Given the description of an element on the screen output the (x, y) to click on. 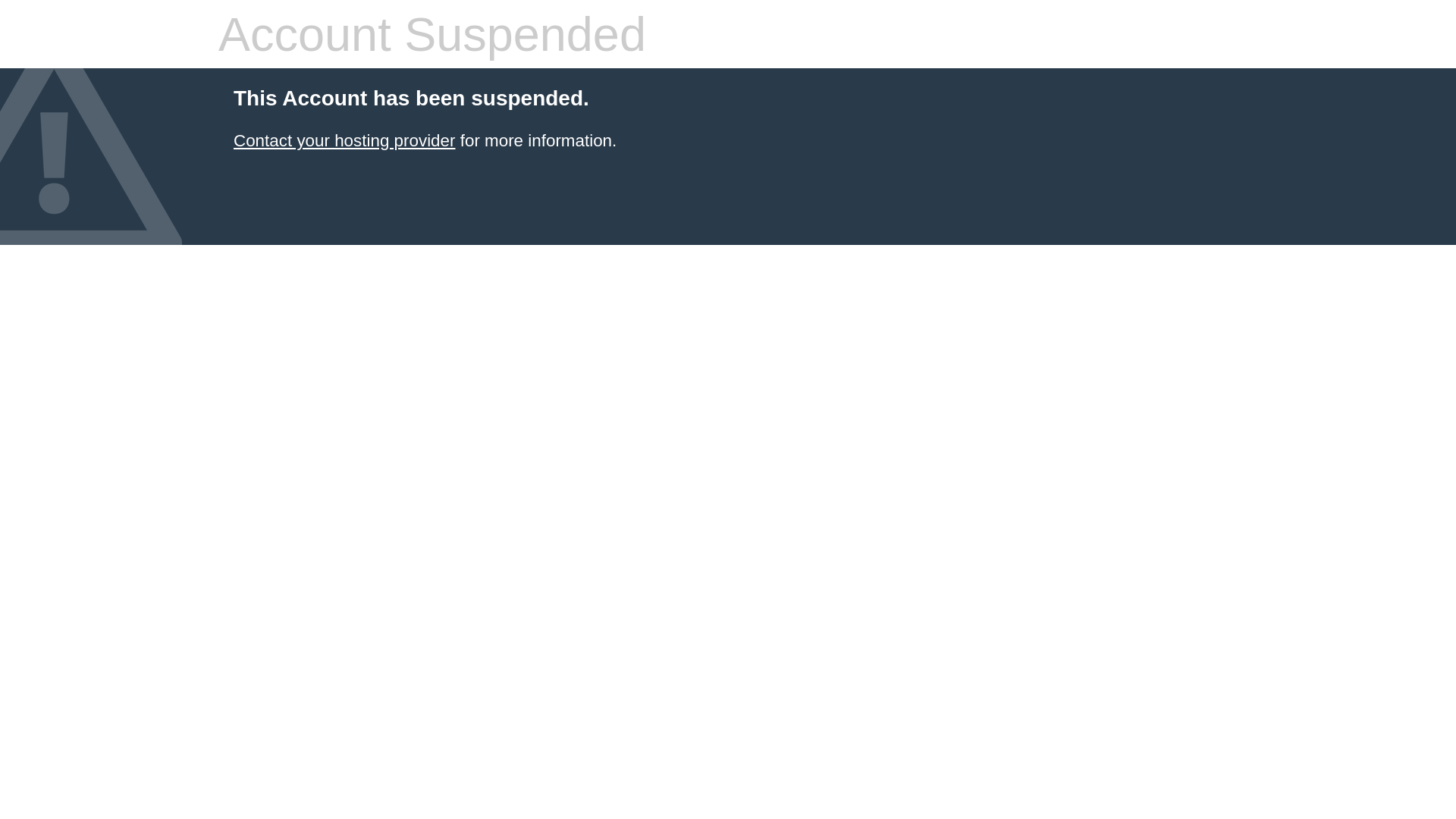
Contact your hosting provider Element type: text (344, 140)
